Given the description of an element on the screen output the (x, y) to click on. 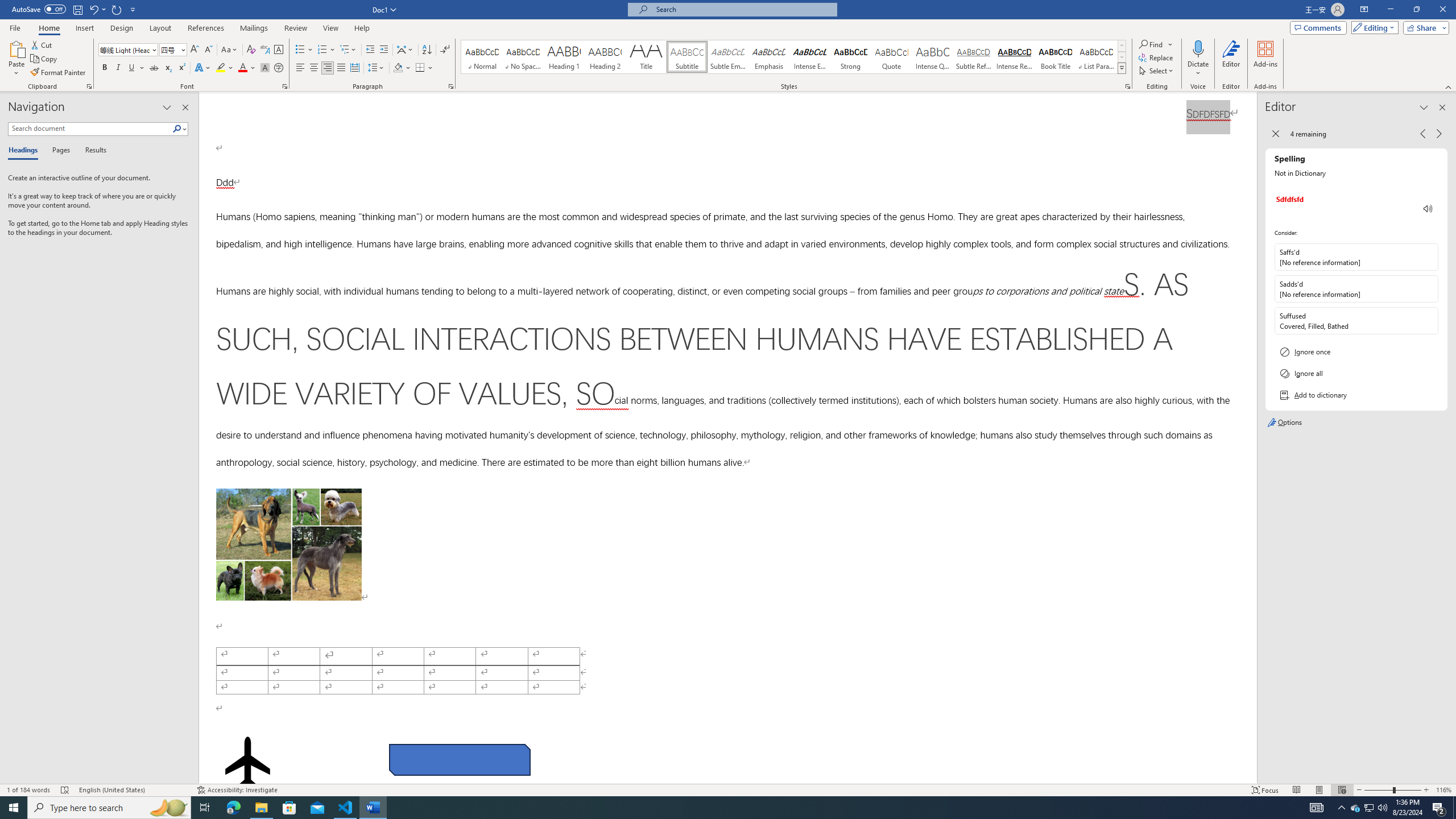
Subtle Emphasis (727, 56)
Zoom In (1426, 790)
Increase Indent (383, 49)
Mailings (253, 28)
Class: NetUIImage (1121, 68)
Zoom 116% (1443, 790)
Row up (1121, 45)
Change Case (229, 49)
Justify (340, 67)
Quote (891, 56)
